Given the description of an element on the screen output the (x, y) to click on. 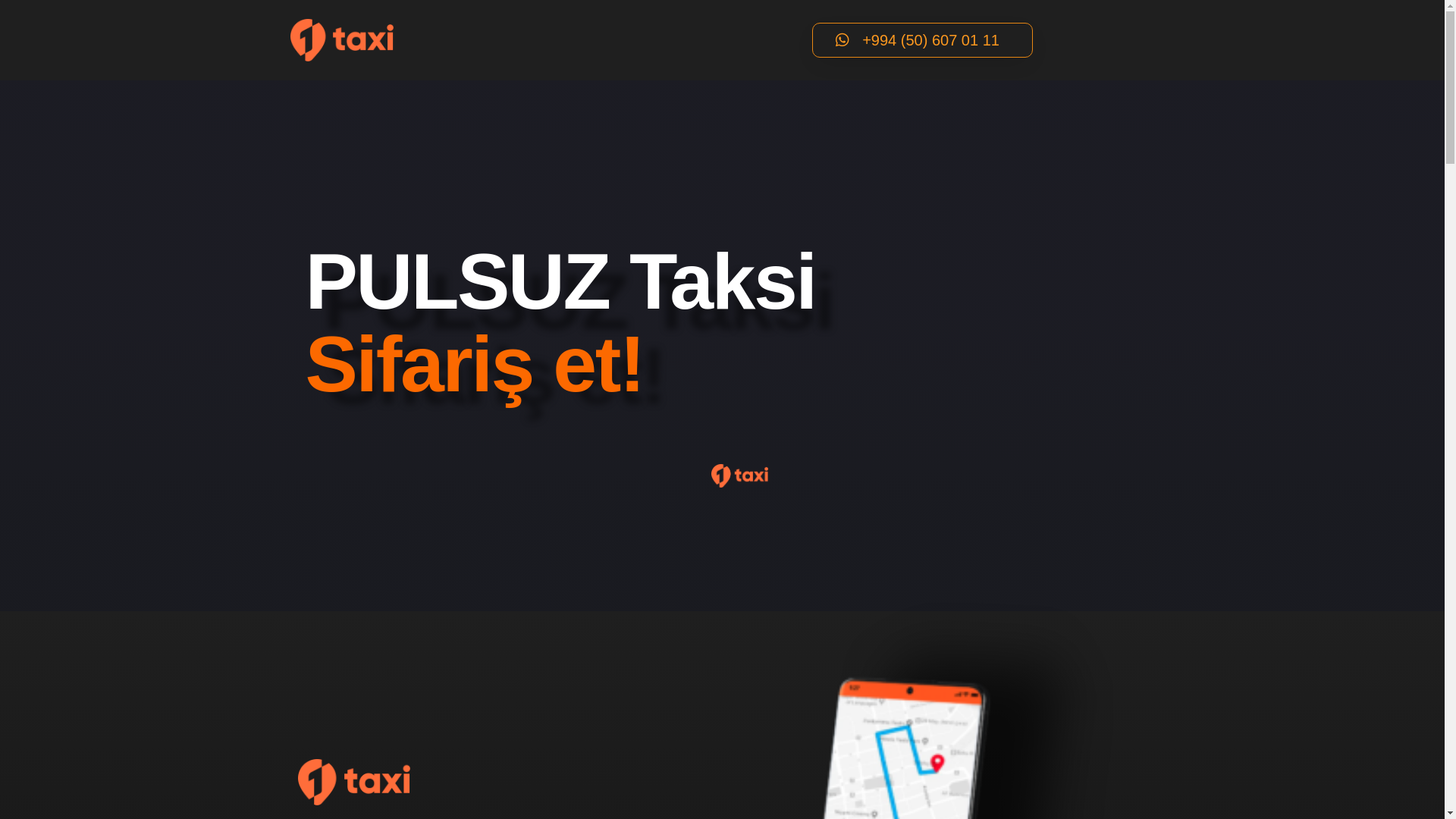
+994 (50) 607 01 11 Element type: text (921, 39)
